Given the description of an element on the screen output the (x, y) to click on. 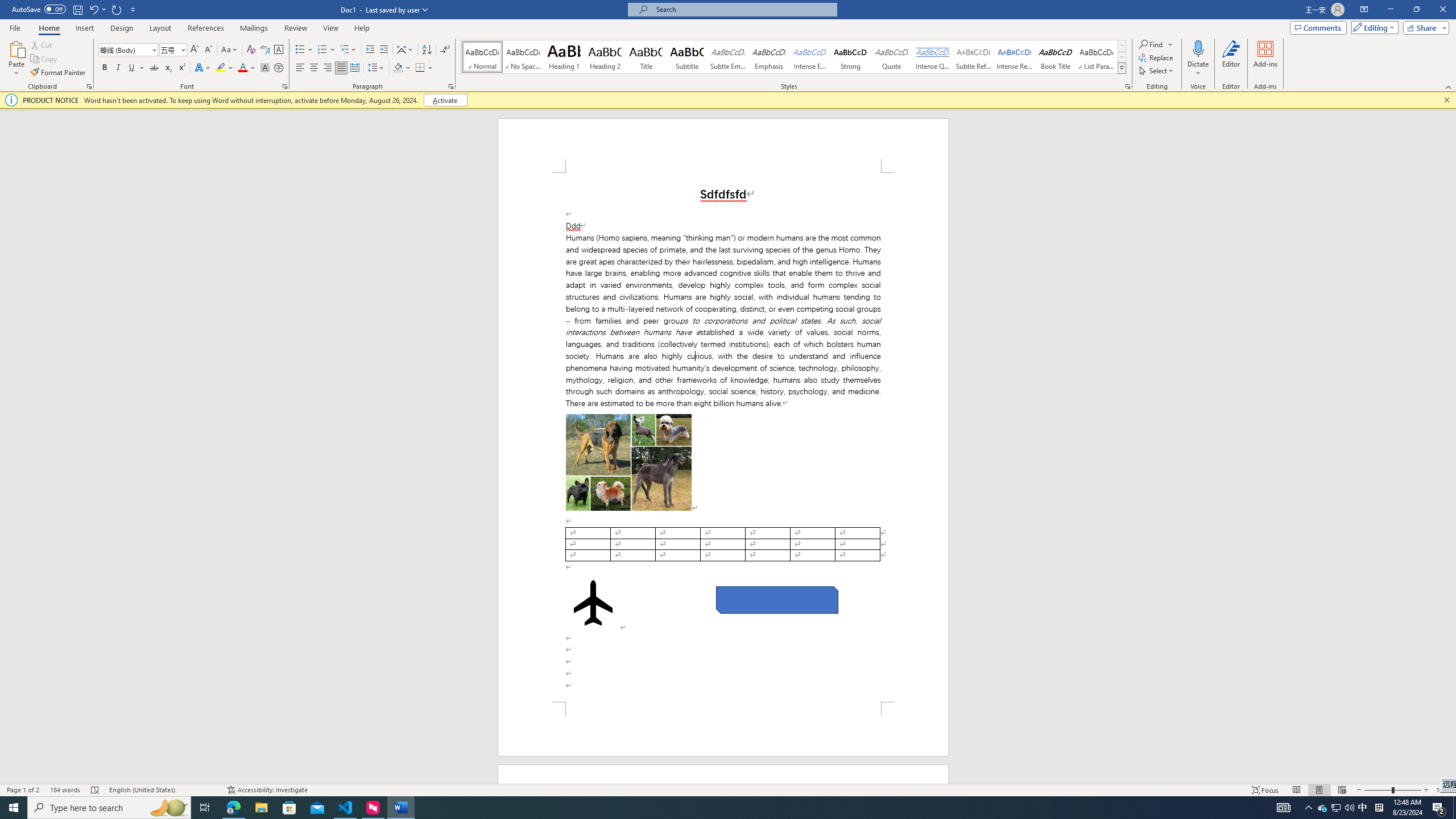
Subtle Emphasis (727, 56)
